Given the description of an element on the screen output the (x, y) to click on. 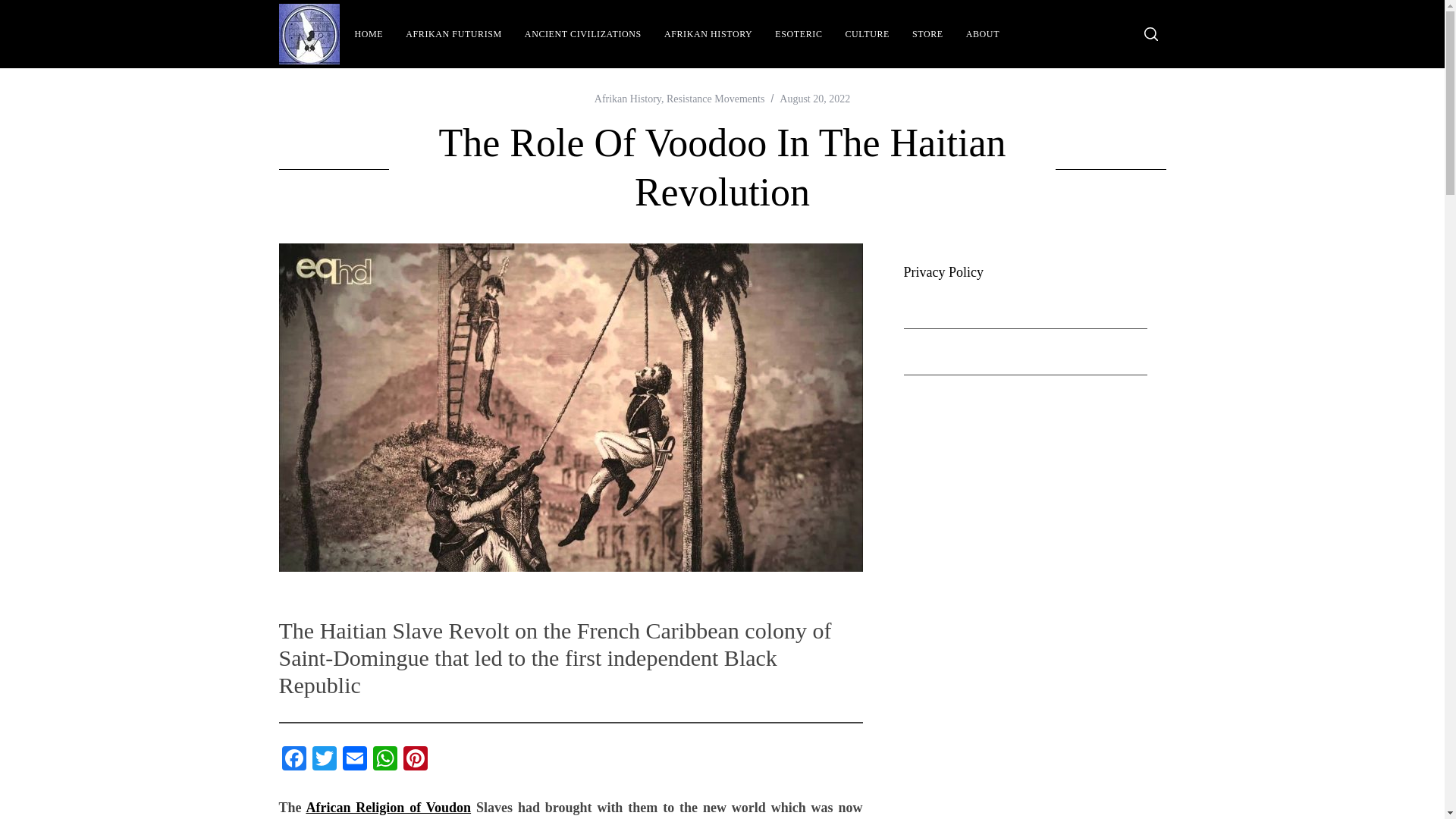
WhatsApp (384, 759)
Facebook (293, 759)
Facebook (293, 759)
Resistance Movements (715, 98)
AFRIKAN HISTORY (707, 34)
ESOTERIC (797, 34)
STORE (928, 34)
Afrikan History (627, 98)
ABOUT (982, 34)
AFRIKAN FUTURISM (453, 34)
